Given the description of an element on the screen output the (x, y) to click on. 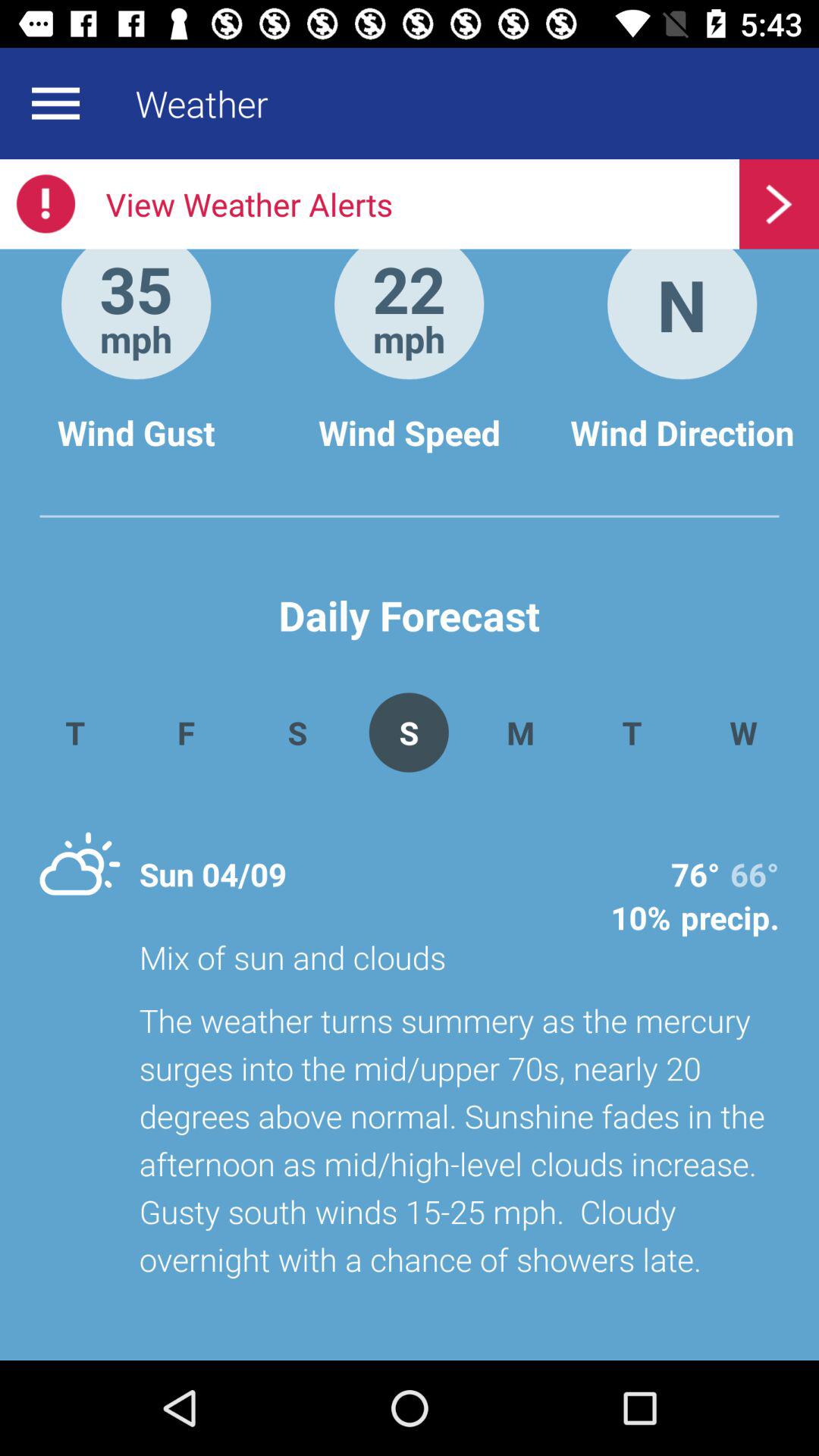
flip until m icon (520, 732)
